Given the description of an element on the screen output the (x, y) to click on. 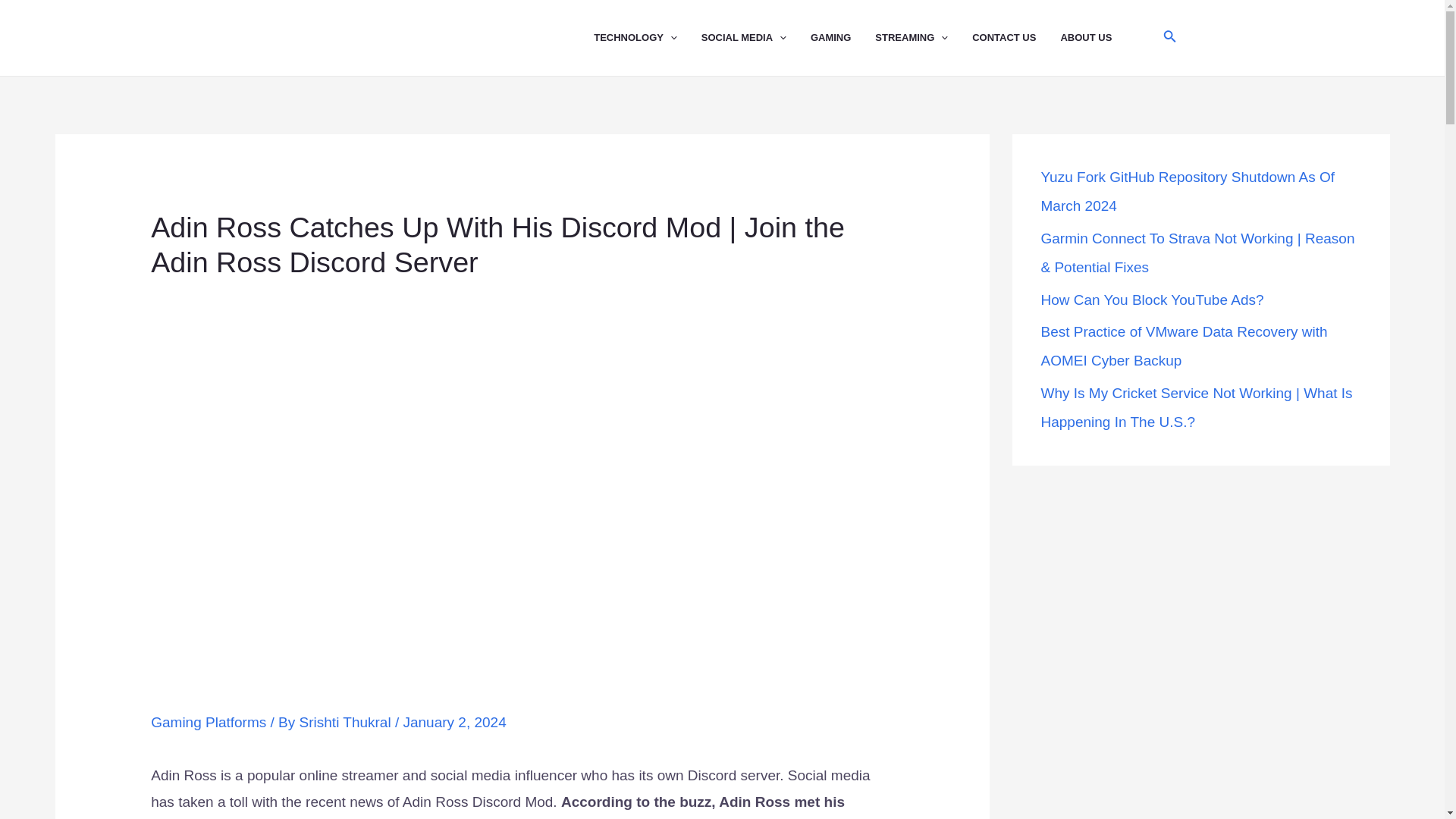
STREAMING (923, 38)
View all posts by Srishti Thukral (346, 722)
CONTACT US (1015, 38)
ABOUT US (1097, 38)
SOCIAL MEDIA (755, 38)
TECHNOLOGY (647, 38)
